Given the description of an element on the screen output the (x, y) to click on. 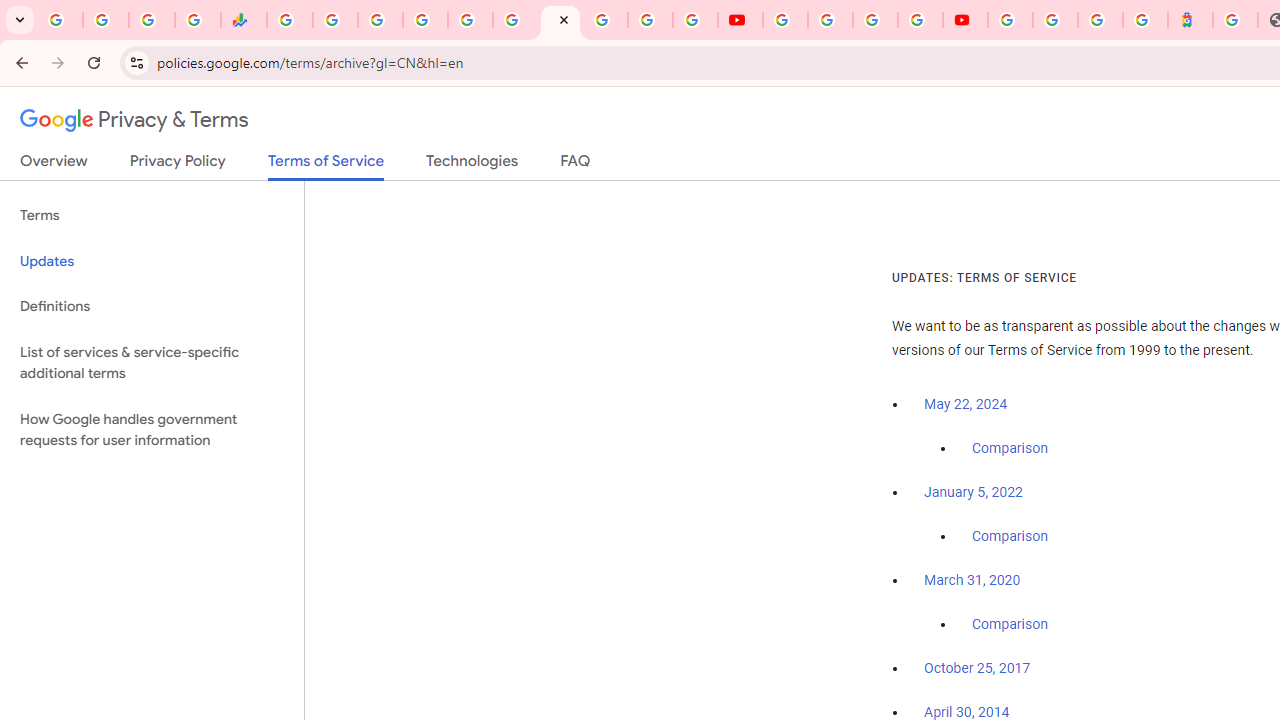
YouTube (784, 20)
Google Account Help (829, 20)
January 5, 2022 (973, 492)
